Given the description of an element on the screen output the (x, y) to click on. 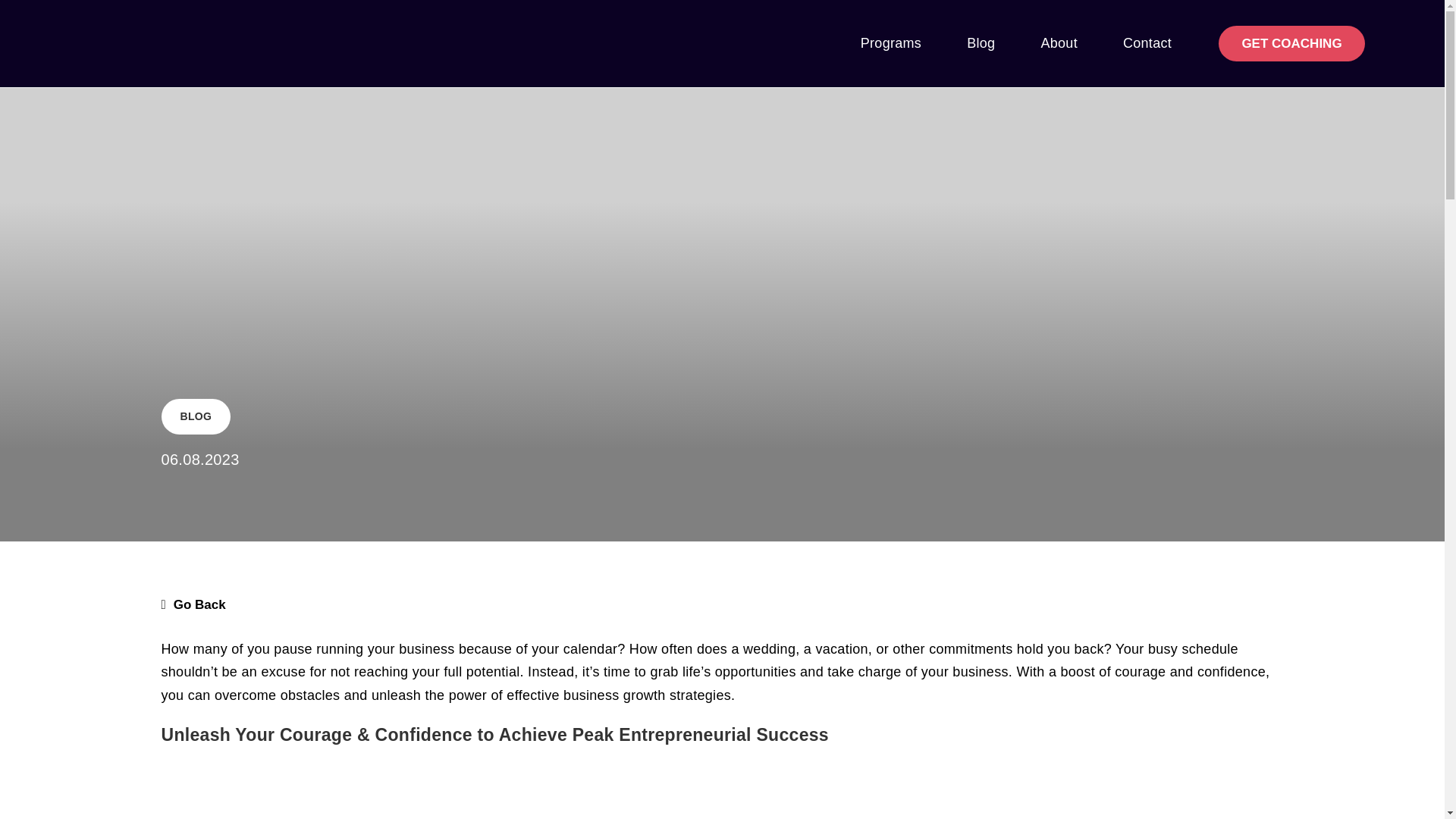
BLOG (196, 416)
Programs (890, 42)
Go Back (192, 604)
About (1058, 42)
Blog (980, 42)
Contact (1146, 42)
GET COACHING (1291, 43)
